Given the description of an element on the screen output the (x, y) to click on. 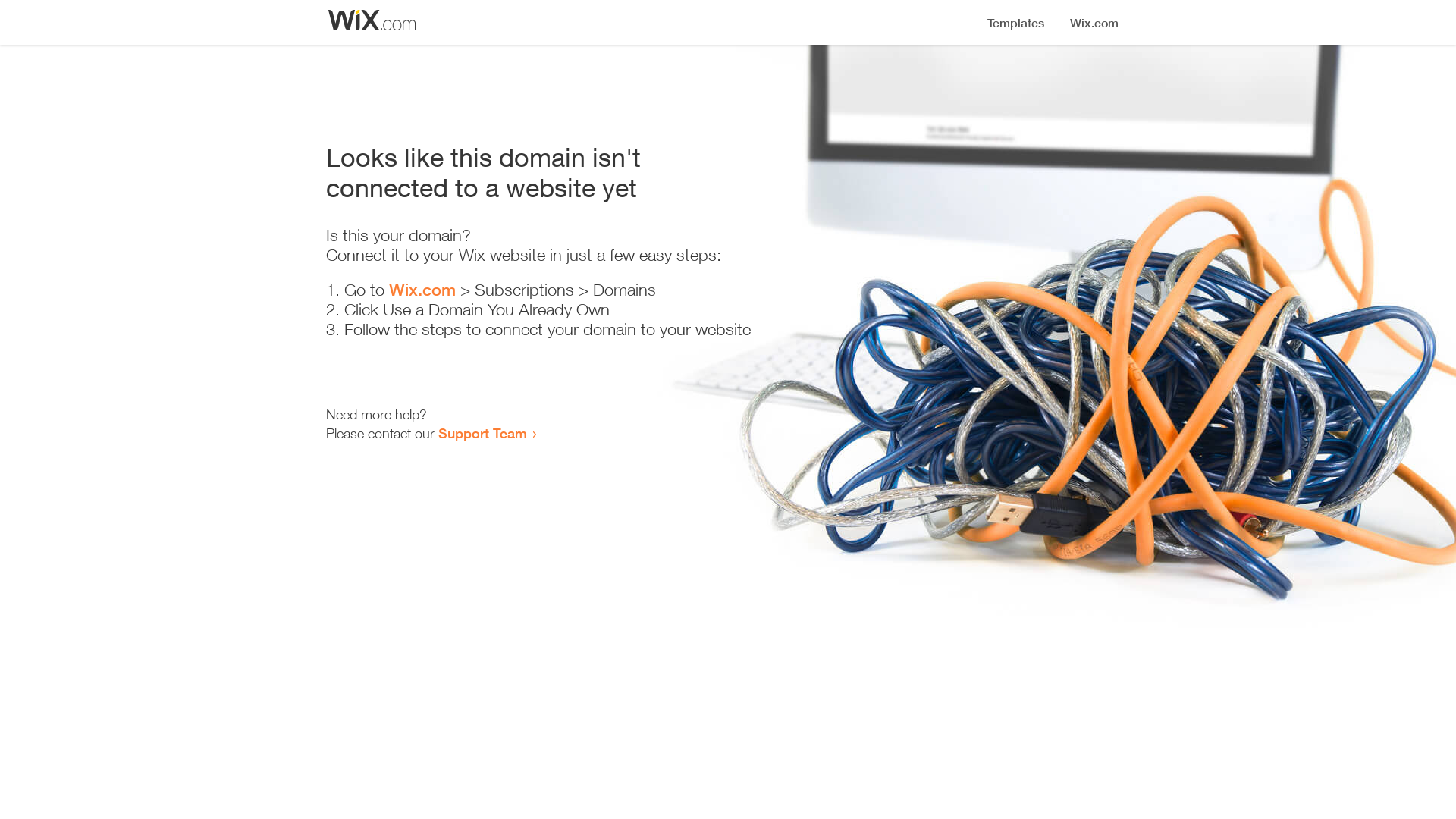
Support Team Element type: text (482, 432)
Wix.com Element type: text (422, 289)
